Given the description of an element on the screen output the (x, y) to click on. 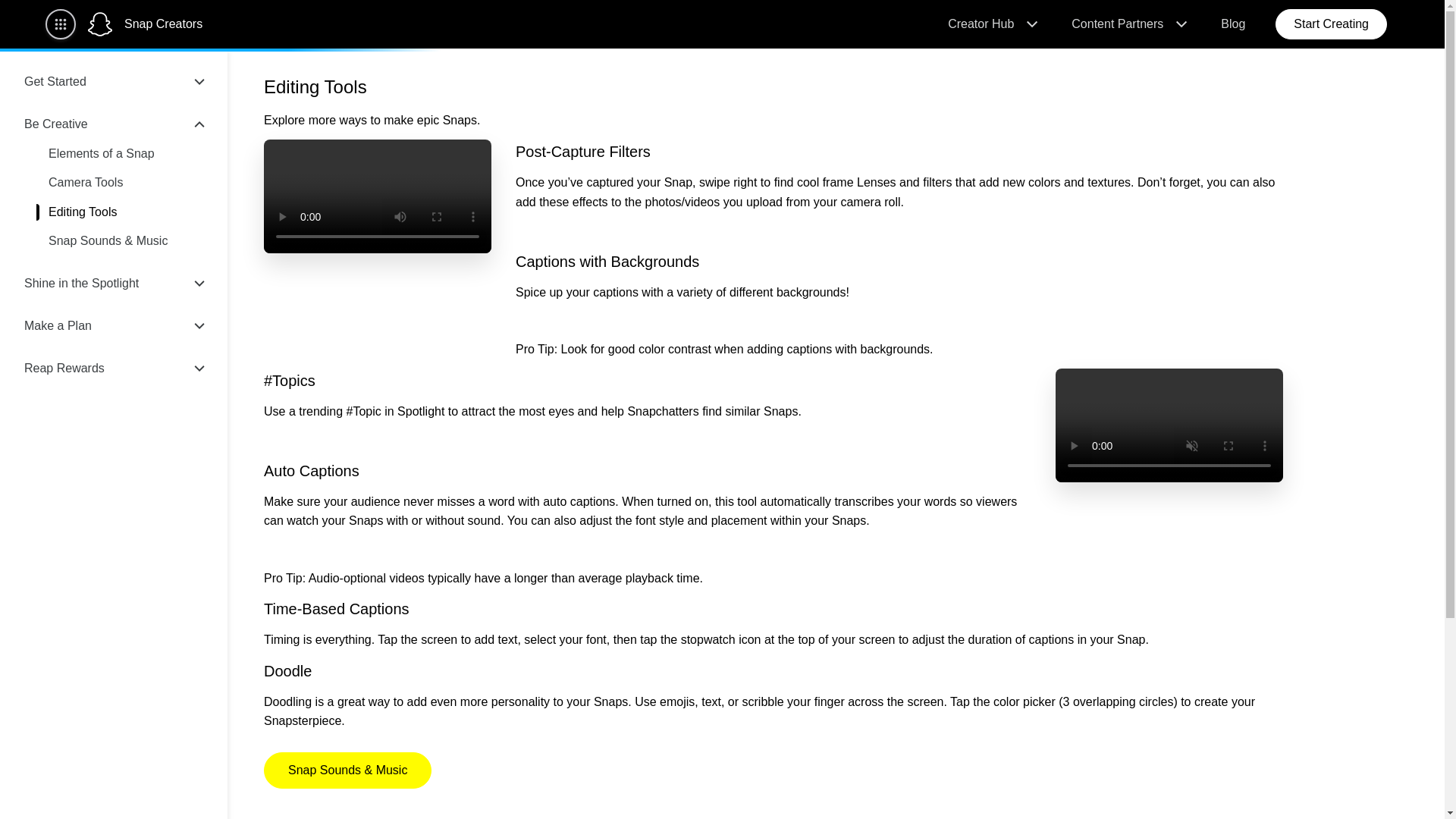
Be Creative (113, 124)
Shine in the Spotlight (113, 283)
Get Started (113, 81)
Creator Hub (991, 24)
Make a Plan (113, 325)
Start Creating (1331, 24)
Content Partners (1128, 24)
Reap Rewards (113, 368)
Camera Tools (125, 182)
Elements of a Snap (125, 153)
Snap Creators (162, 24)
Editing Tools (125, 211)
